Given the description of an element on the screen output the (x, y) to click on. 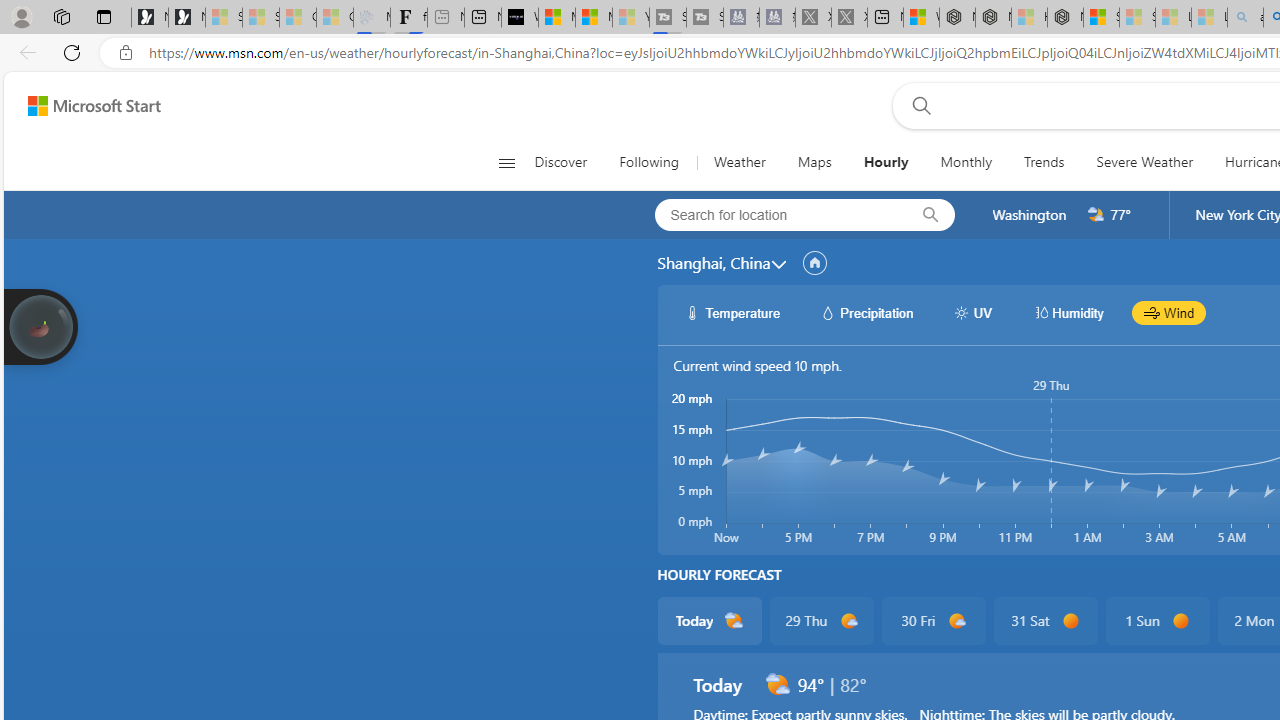
amazon - Search - Sleeping (1245, 17)
hourlyChart/windBlack (1152, 312)
Search for location (775, 214)
